Given the description of an element on the screen output the (x, y) to click on. 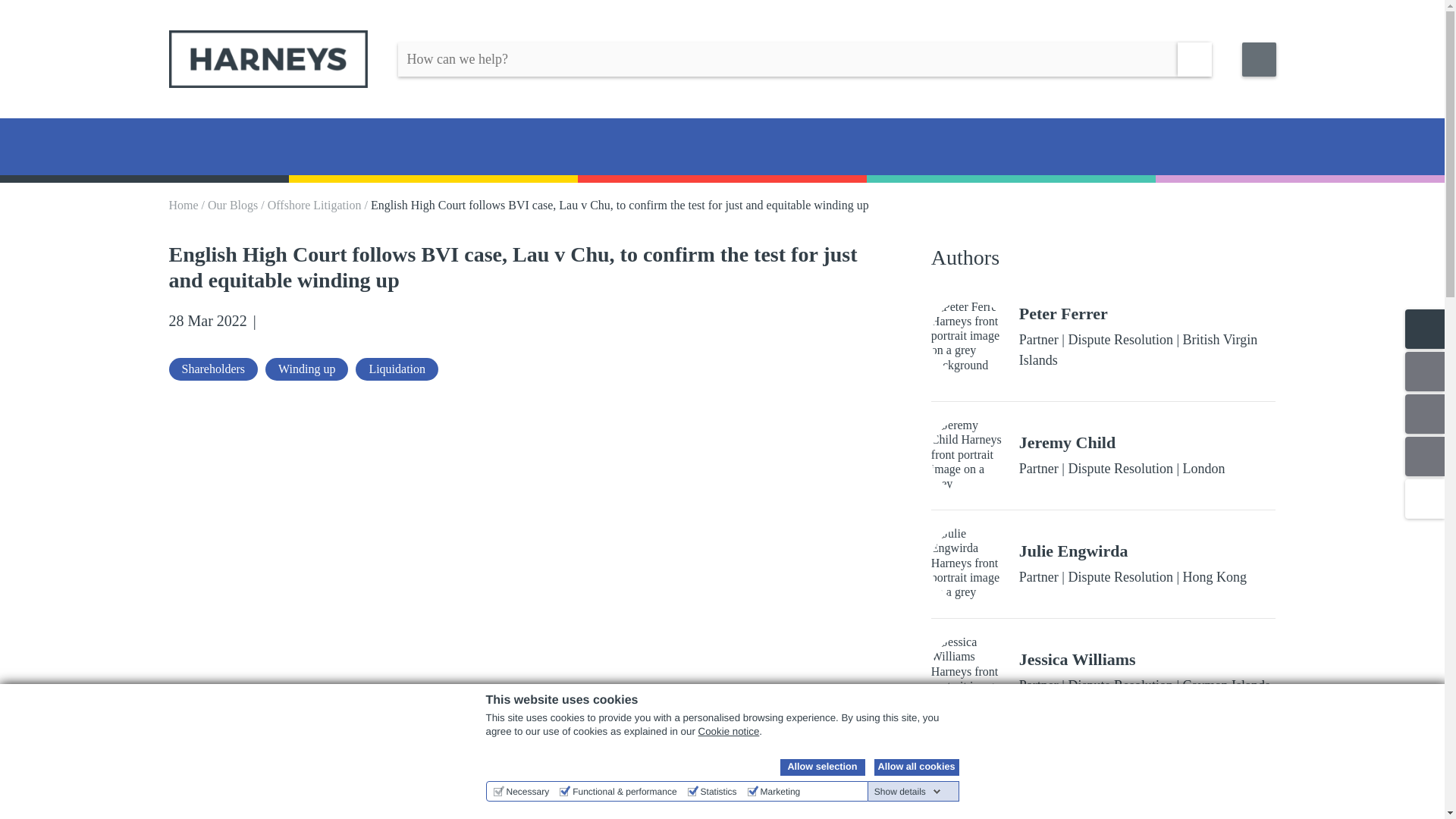
Download (368, 321)
LinkedIn (271, 321)
Show details (906, 791)
Allow all cookies (915, 767)
Print (392, 321)
Rss (343, 321)
Cookie notice (729, 731)
X (295, 321)
